Given the description of an element on the screen output the (x, y) to click on. 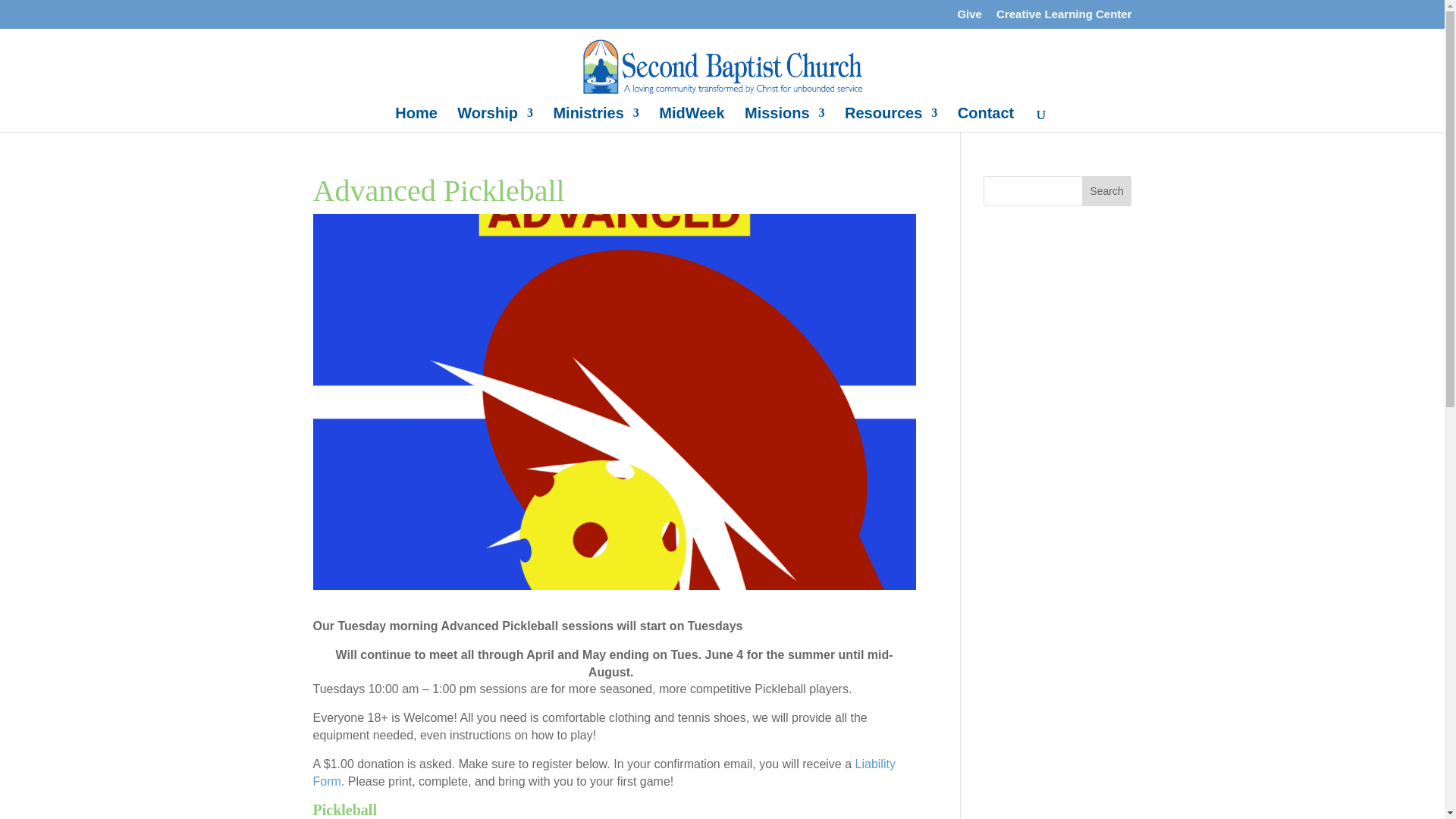
Resources (890, 119)
Home (416, 119)
Contact (985, 119)
Worship (494, 119)
Creative Learning Center (1063, 17)
MidWeek (691, 119)
Missions (784, 119)
Ministries (596, 119)
Give (968, 17)
Search (1106, 191)
